Given the description of an element on the screen output the (x, y) to click on. 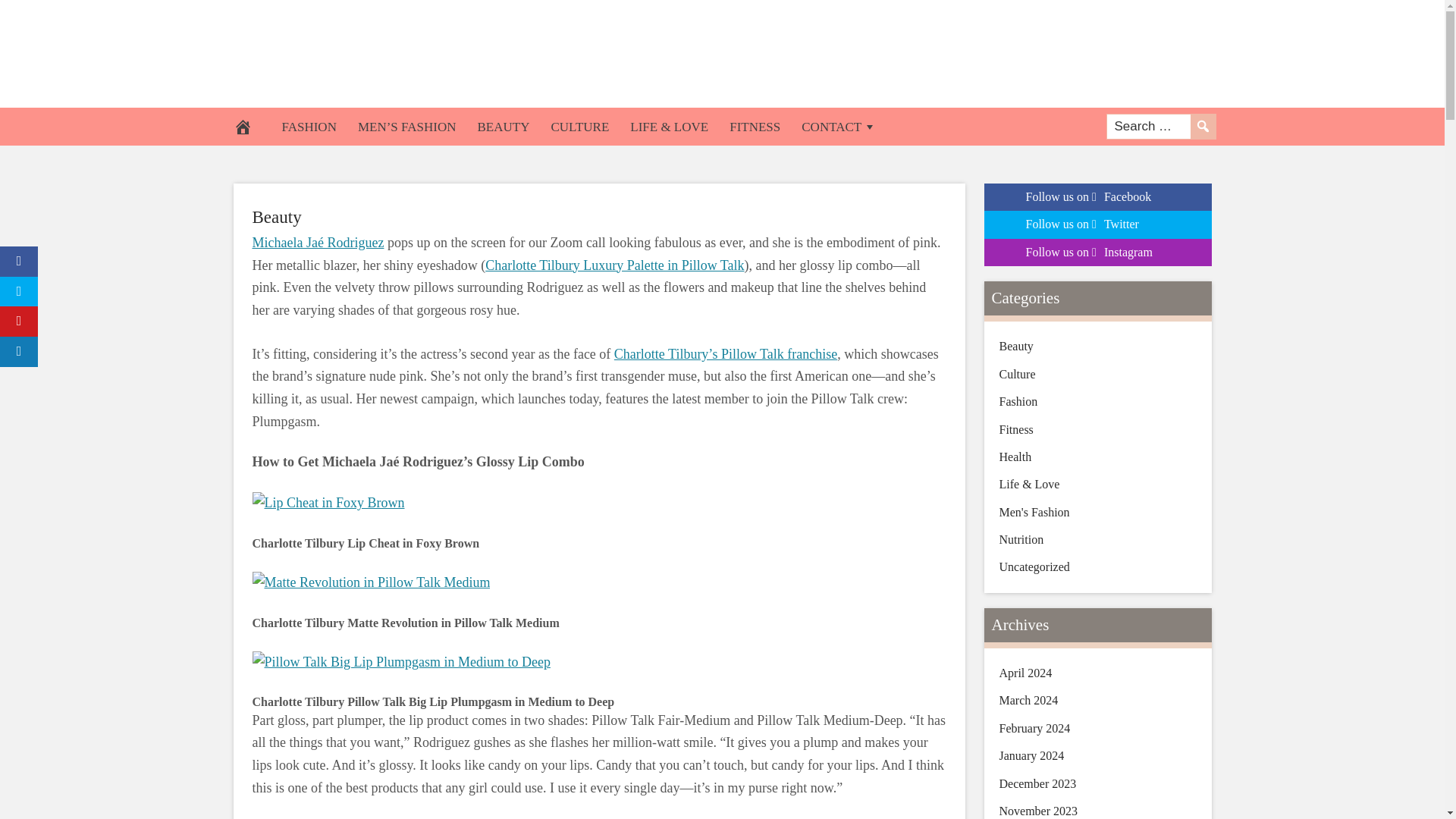
Matte Revolution in Pillow Talk Medium (370, 582)
Beauty (276, 217)
CONTACT (838, 126)
CULTURE (580, 126)
FASHION (308, 126)
Lip Cheat in Foxy Brown (327, 503)
Pillow Talk Big Lip Plumpgasm in Medium to Deep (400, 662)
Beauty (276, 217)
FITNESS (754, 126)
BEAUTY (502, 126)
